Given the description of an element on the screen output the (x, y) to click on. 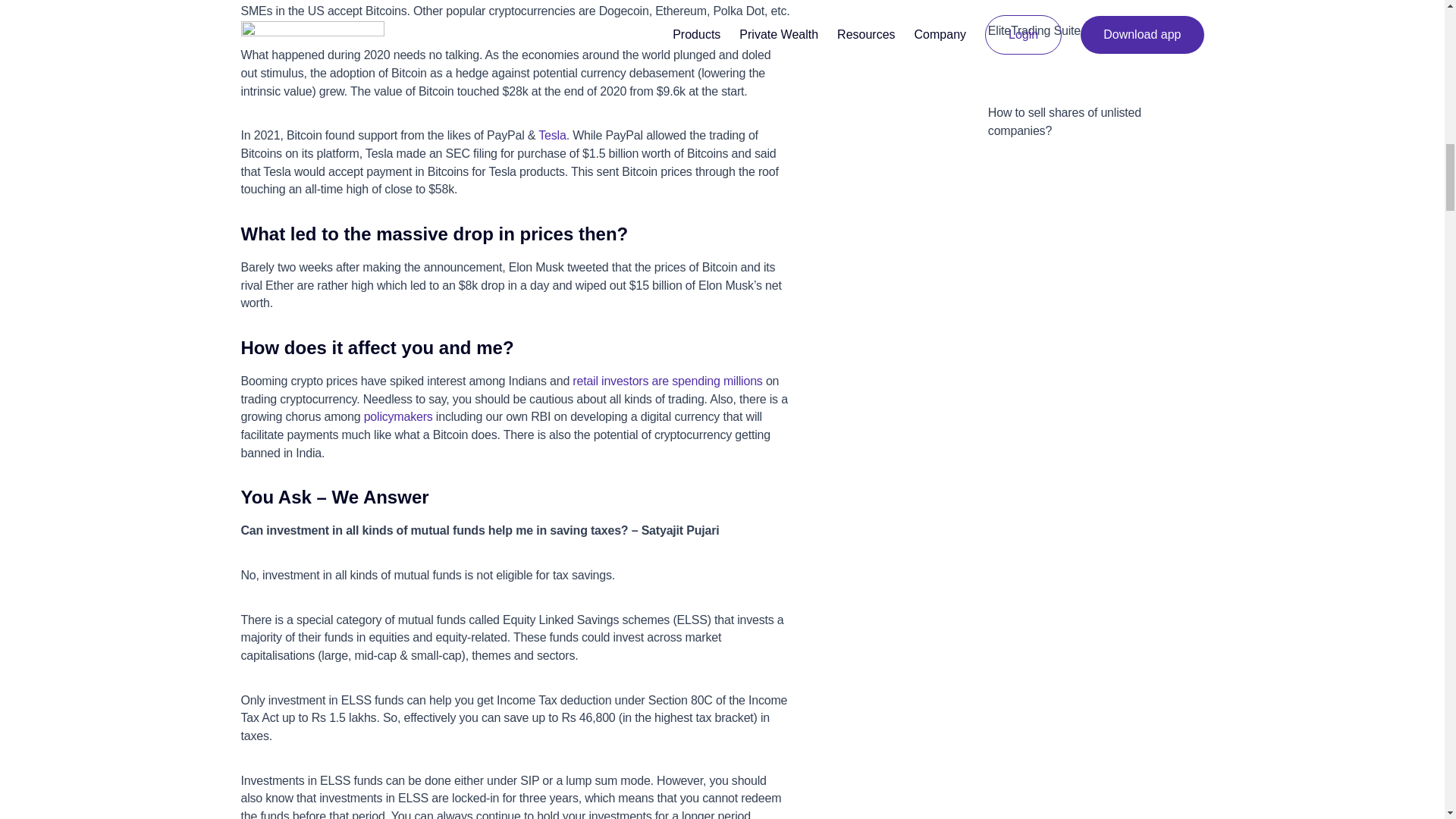
retail investors are spending millions (666, 380)
Tesla (552, 134)
policymakers (398, 416)
